Given the description of an element on the screen output the (x, y) to click on. 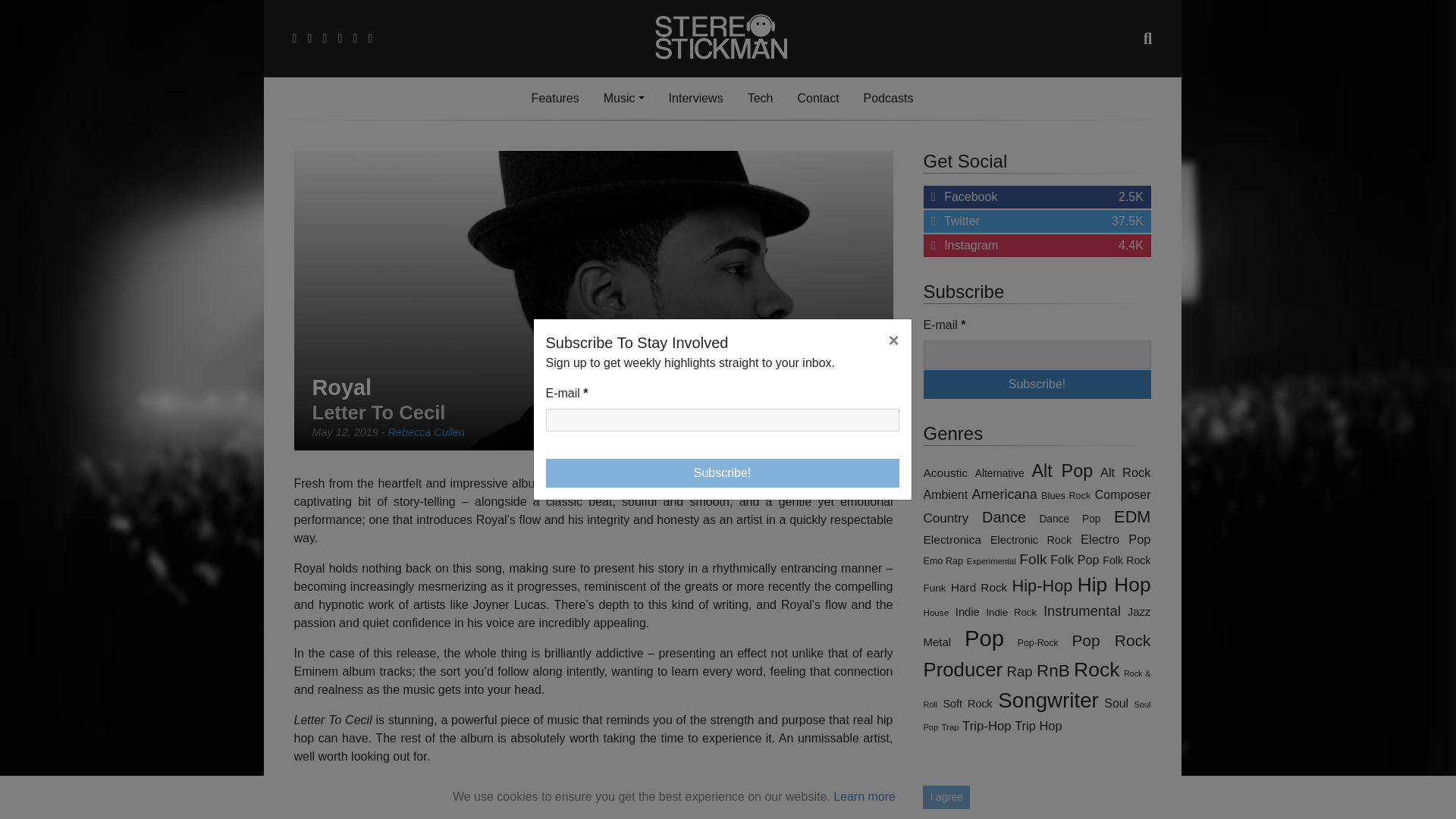
Rebecca Cullen (426, 431)
Alternative (1000, 473)
Podcasts (888, 98)
Interviews (695, 98)
Spotify Embed: Letter to Cecil (593, 813)
Subscribe! (1037, 384)
E-mail (722, 419)
Contact (1037, 196)
Music (817, 98)
E-mail (623, 98)
Features (1037, 354)
Interviews (1037, 245)
Instagram (555, 98)
